Given the description of an element on the screen output the (x, y) to click on. 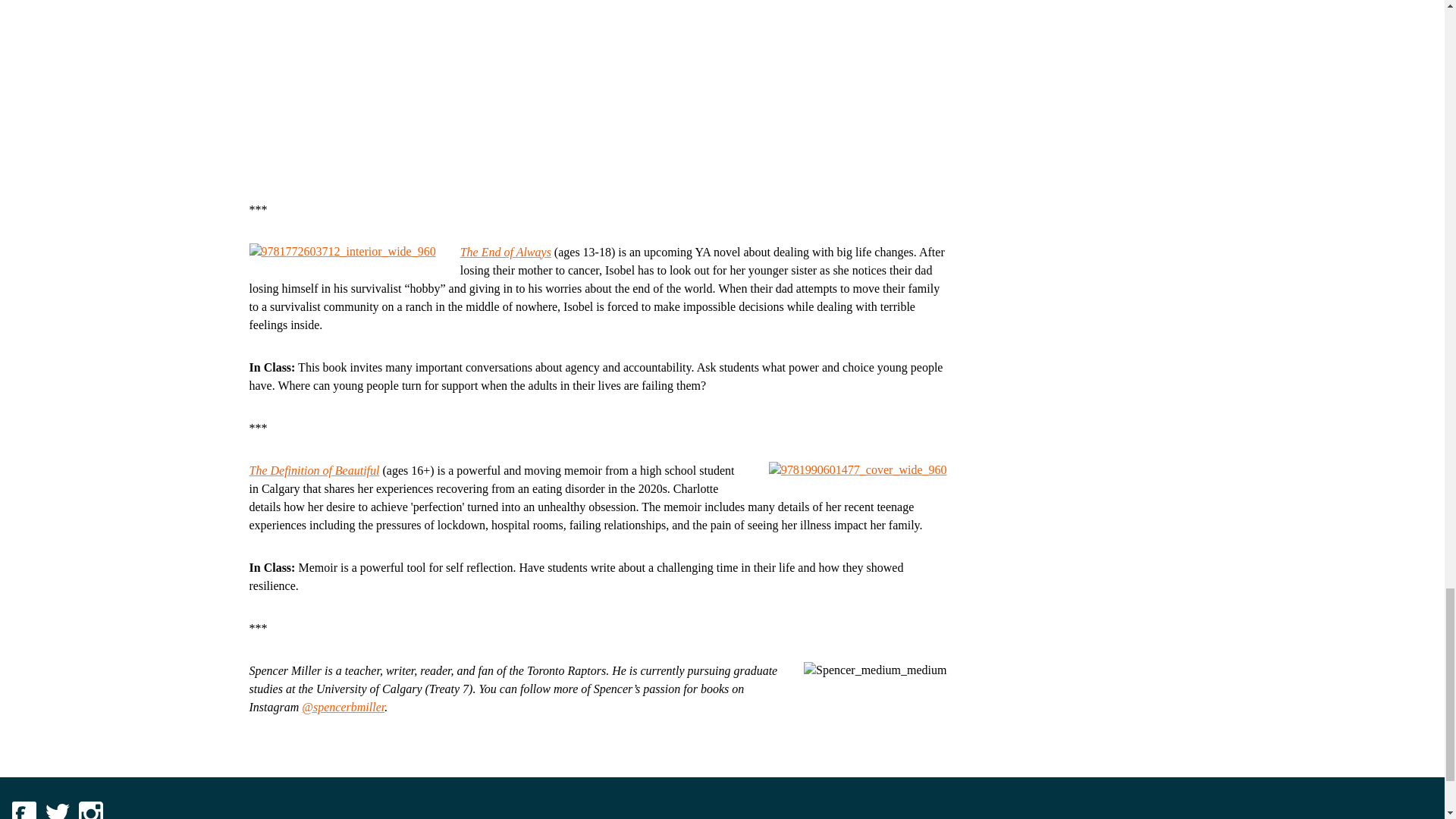
Visit us on Instagram (90, 809)
Visit us on Twitter (57, 809)
YouTube video player (460, 98)
Visit us on Facebook (23, 809)
